Given the description of an element on the screen output the (x, y) to click on. 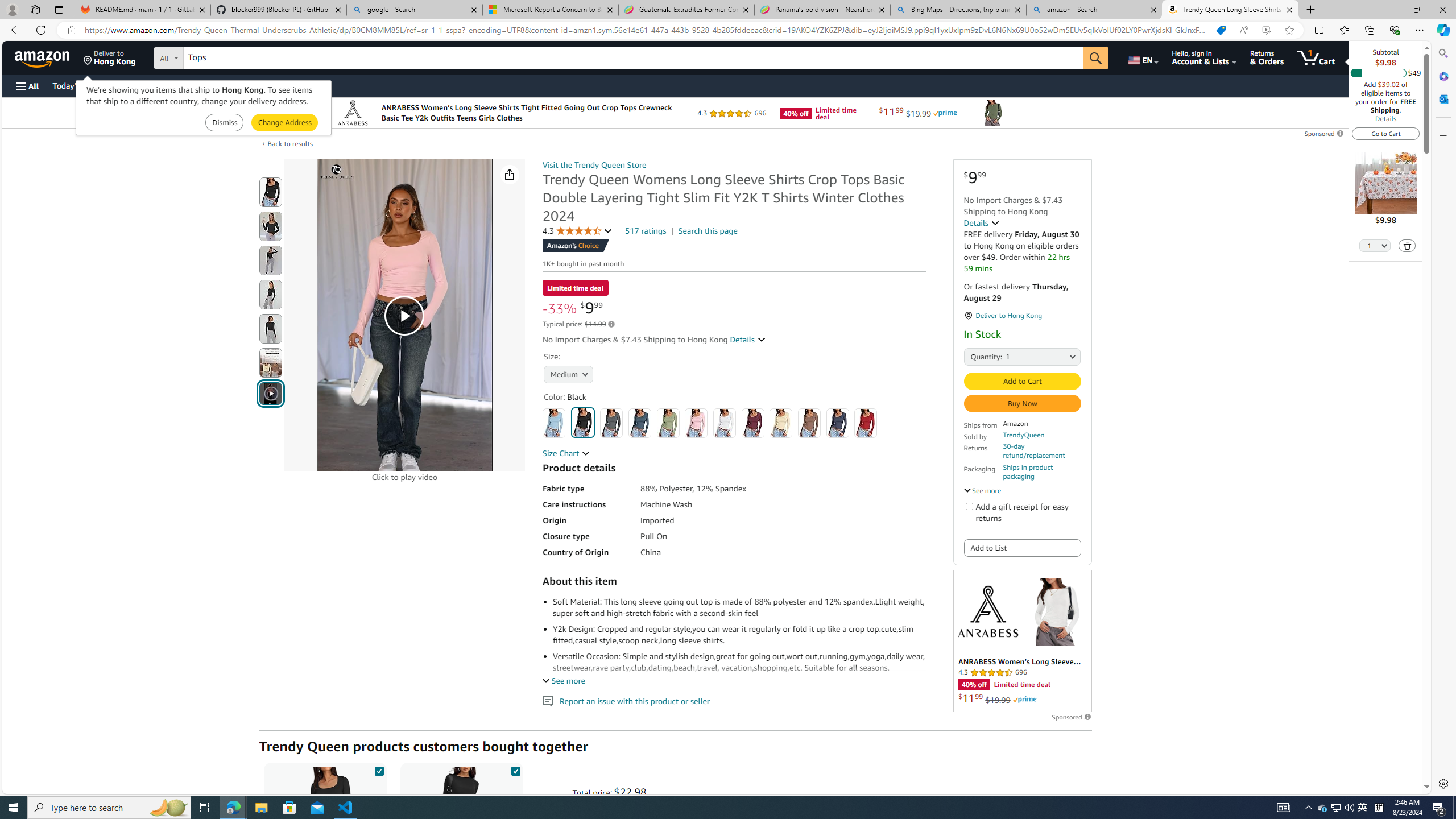
Gray (611, 422)
Light Green (667, 422)
Registry (205, 85)
Quantity Selector (1374, 246)
Ships in product packaging (1042, 471)
Open Menu (26, 86)
Search this page (708, 230)
